Given the description of an element on the screen output the (x, y) to click on. 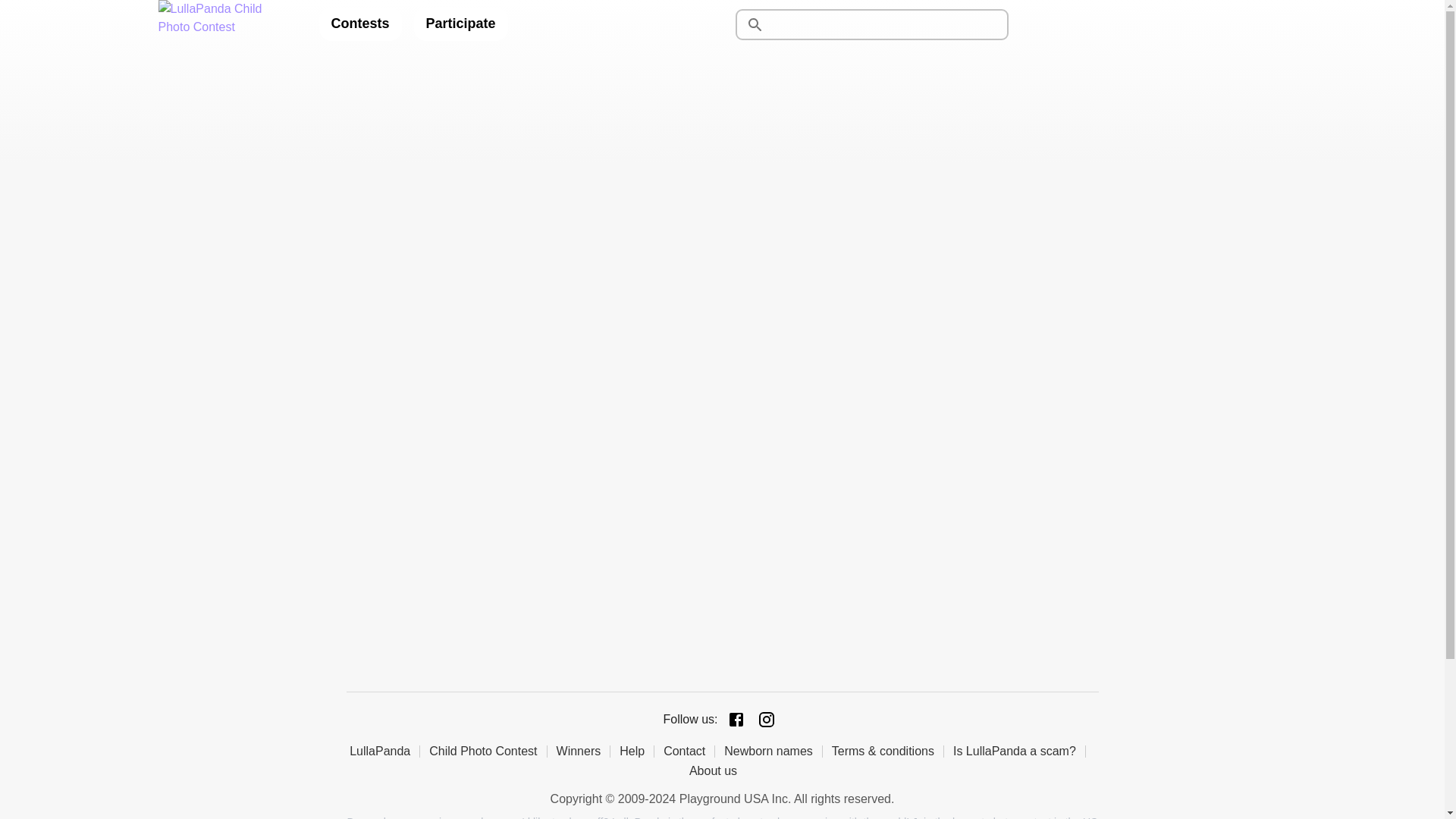
Is LullaPanda a scam? (1019, 751)
About us (716, 770)
Newborn names (772, 751)
Help (636, 751)
Contact (688, 751)
Participate (460, 23)
Winners (583, 751)
LullaPanda Child Photo Contest (225, 24)
Child Photo Contest (488, 751)
LullaPanda (384, 751)
Contests (359, 23)
